Given the description of an element on the screen output the (x, y) to click on. 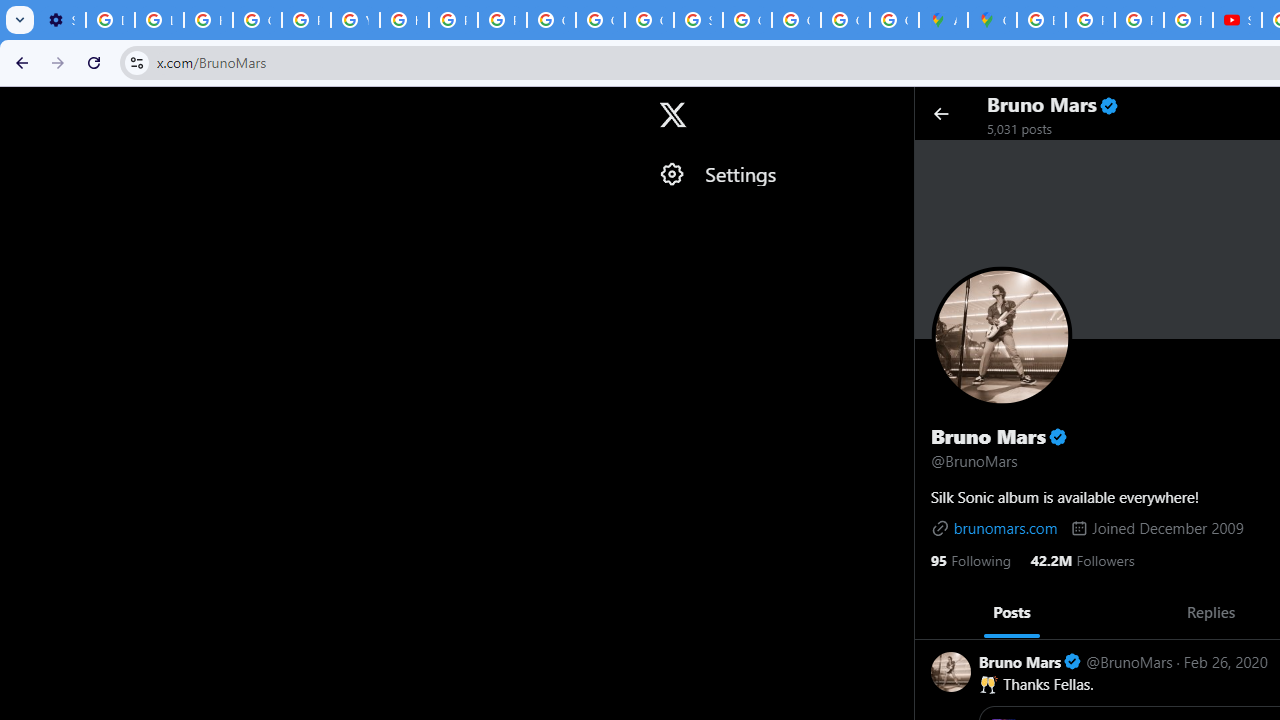
Search tabs (20, 20)
Settings - Customize profile (61, 20)
@BrunoMars (1128, 660)
Back (19, 62)
Reload (93, 62)
brunomars.com (994, 527)
Previous (936, 612)
Skip to home timeline (17, 105)
System (10, 11)
Subscriptions - YouTube (1237, 20)
Forward (57, 62)
